Given the description of an element on the screen output the (x, y) to click on. 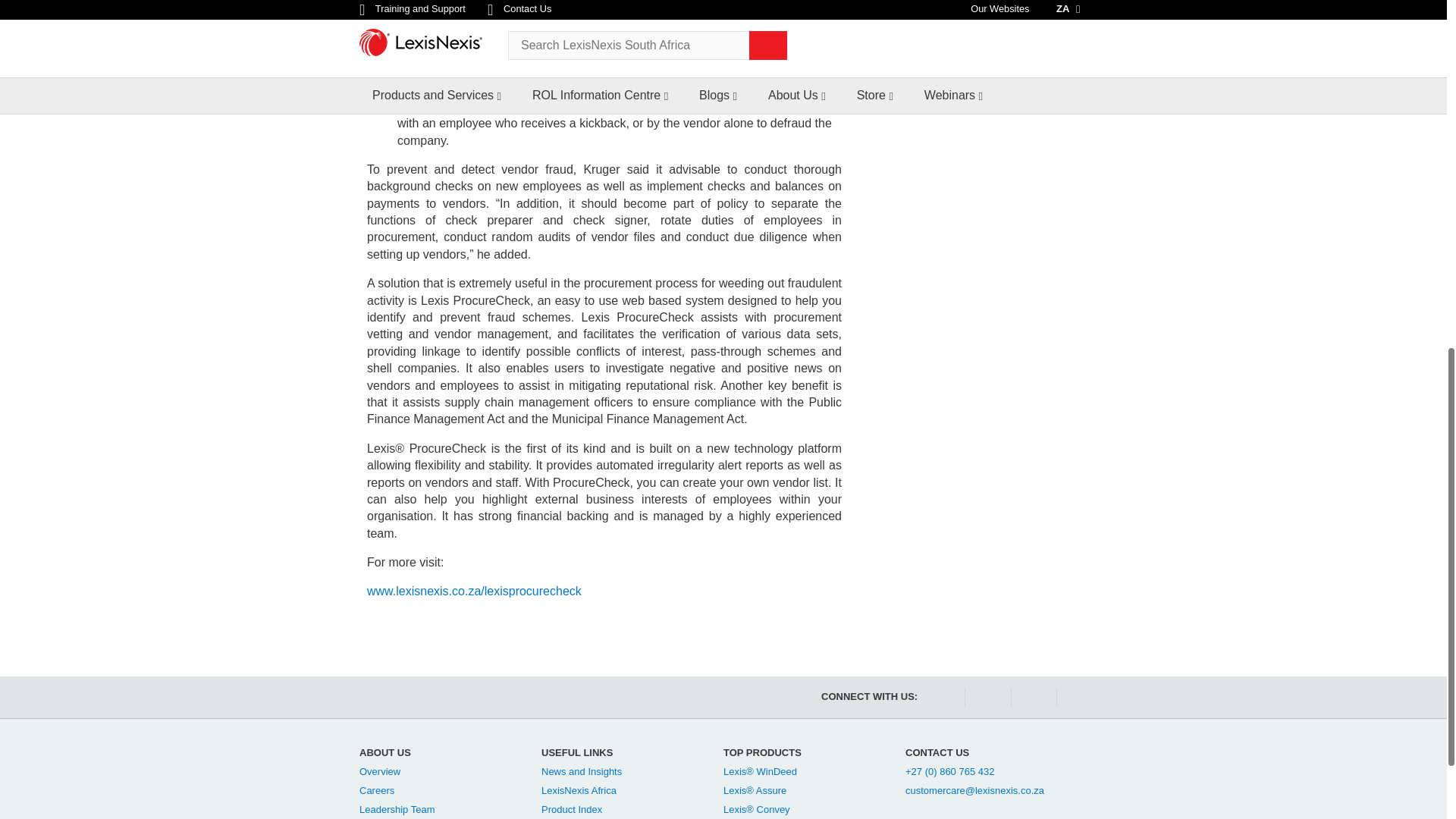
Find us on Youtube (985, 696)
Find us on LinkedIn (1032, 696)
Find us on Facebook (940, 696)
